Given the description of an element on the screen output the (x, y) to click on. 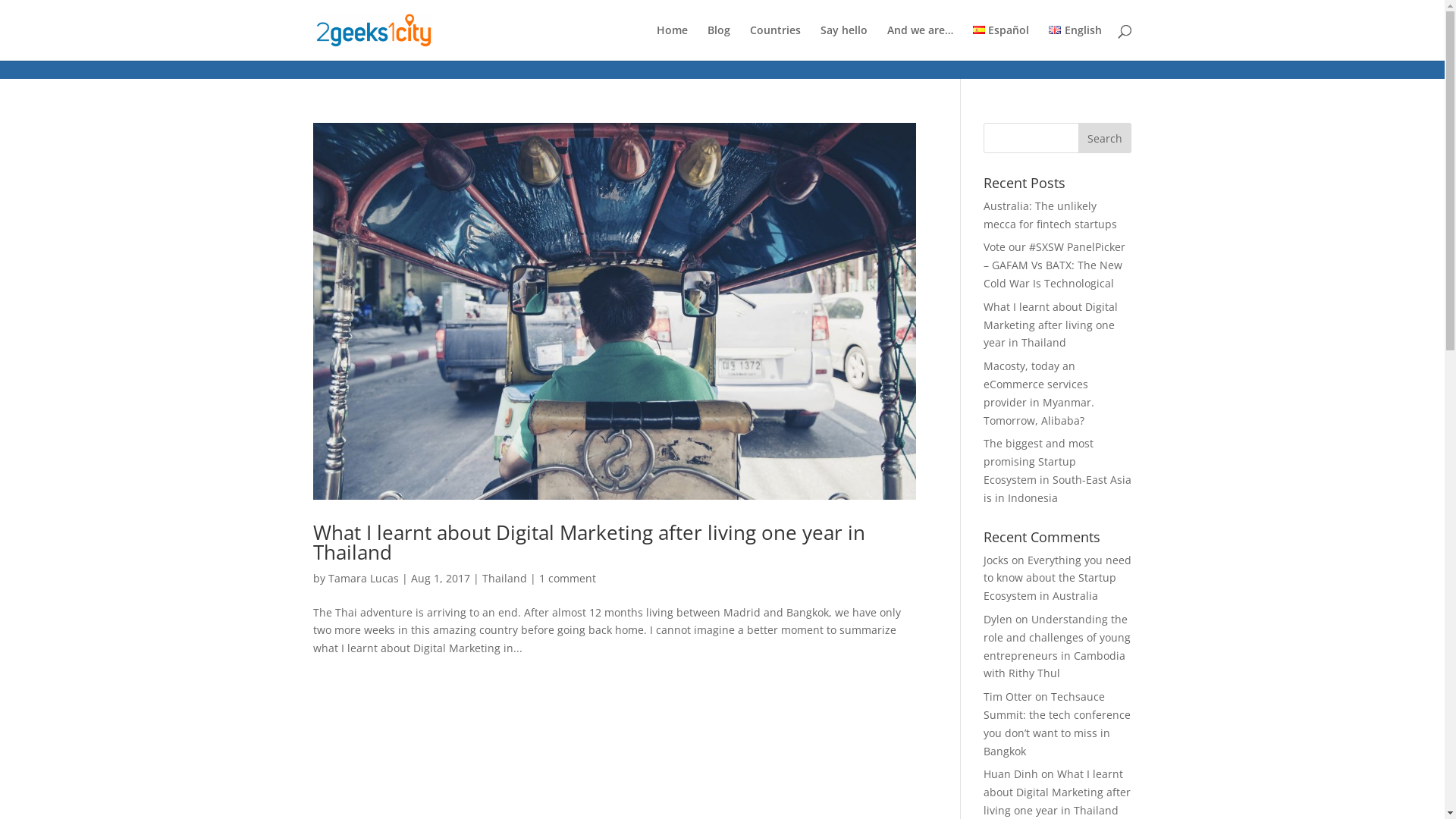
Say hello Element type: text (843, 42)
Home Element type: text (671, 42)
Dylen Element type: text (997, 618)
English Element type: text (1074, 42)
Tim Otter Element type: text (1007, 696)
1 comment Element type: text (566, 578)
Search Element type: text (1104, 137)
Thailand Element type: text (504, 578)
Countries Element type: text (774, 42)
Australia: The unlikely mecca for fintech startups Element type: text (1050, 214)
Blog Element type: text (718, 42)
Google+ Element type: text (20, 8)
Tamara Lucas Element type: text (362, 578)
